Given the description of an element on the screen output the (x, y) to click on. 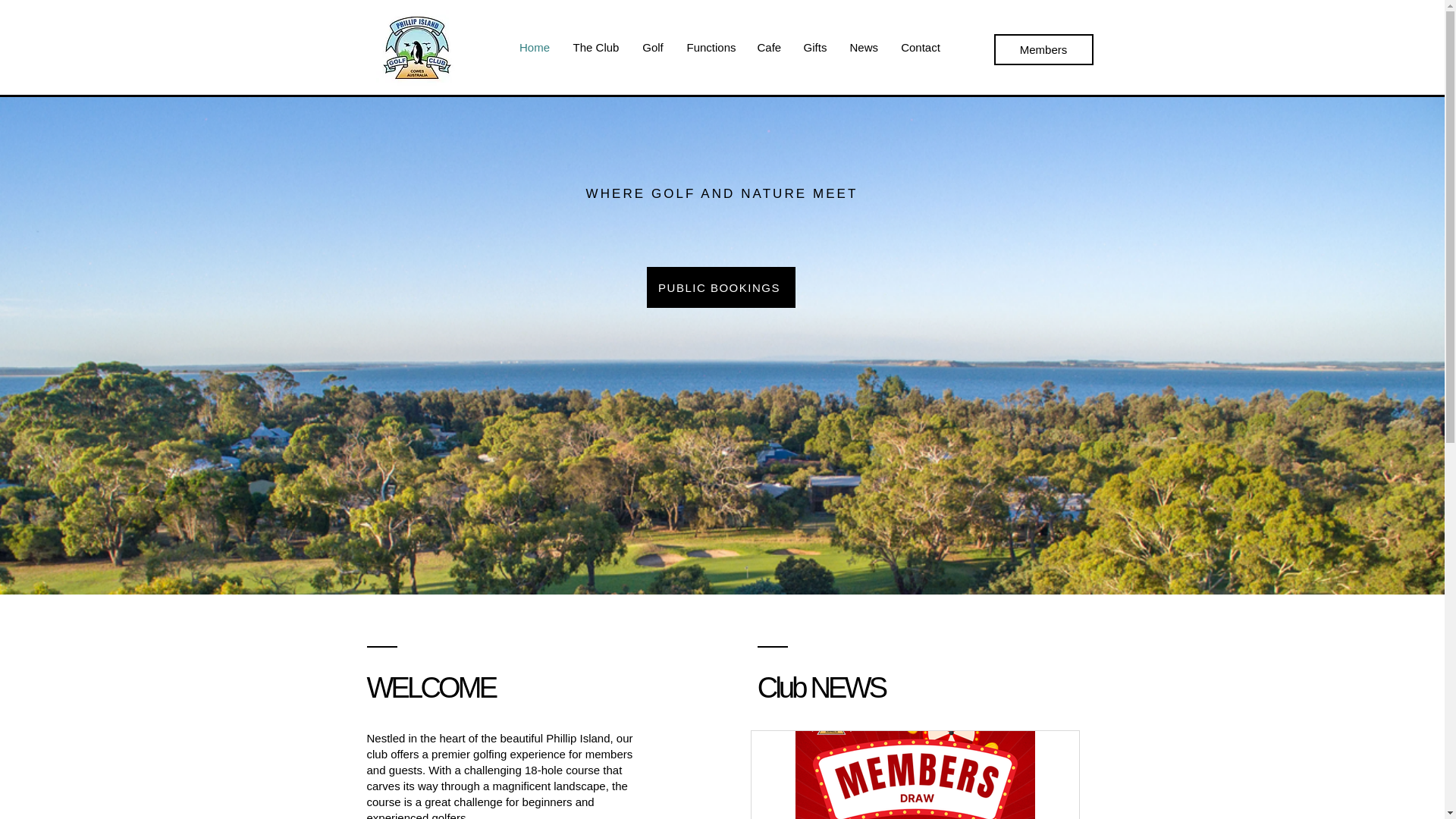
Golf (652, 47)
PUBLIC BOOKINGS (720, 286)
Members (1042, 49)
Home (535, 47)
Functions (710, 47)
The Club (595, 47)
Contact (914, 775)
News (920, 47)
Cafe (863, 47)
Gifts (914, 775)
